Given the description of an element on the screen output the (x, y) to click on. 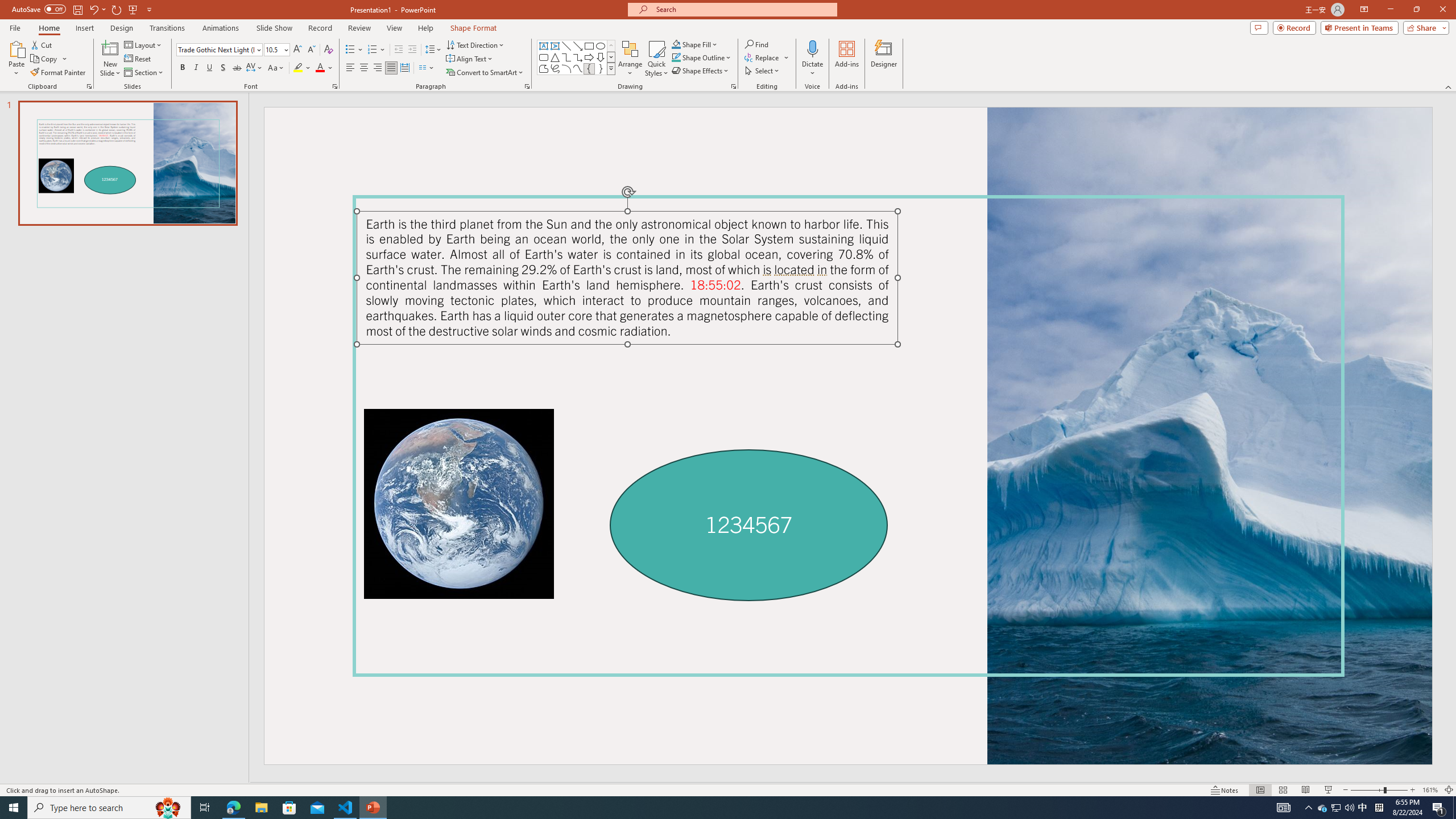
Class: MsoCommandBar (728, 789)
Shape Effects (700, 69)
Strikethrough (237, 67)
Bullets (349, 49)
Dictate (812, 58)
Center (363, 67)
Character Spacing (254, 67)
Font Color (324, 67)
Shapes (611, 68)
Left Brace (589, 68)
Bold (182, 67)
